Given the description of an element on the screen output the (x, y) to click on. 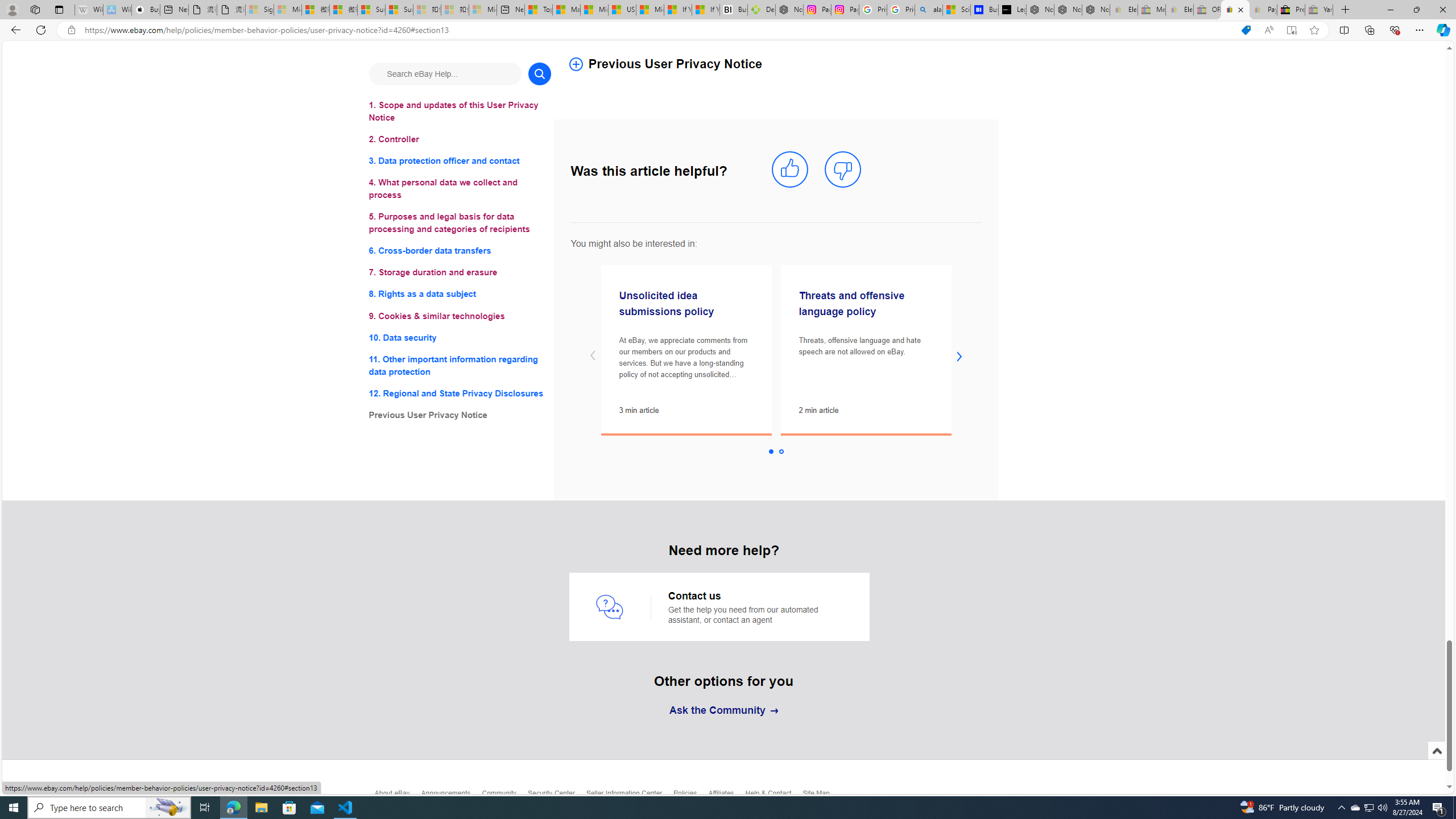
7. Storage duration and erasure (459, 272)
10. Data security (459, 336)
2. Controller (459, 138)
Security Center (556, 795)
Press Room - eBay Inc. (1291, 9)
Previous slide (592, 355)
Scroll to top (1435, 750)
